Given the description of an element on the screen output the (x, y) to click on. 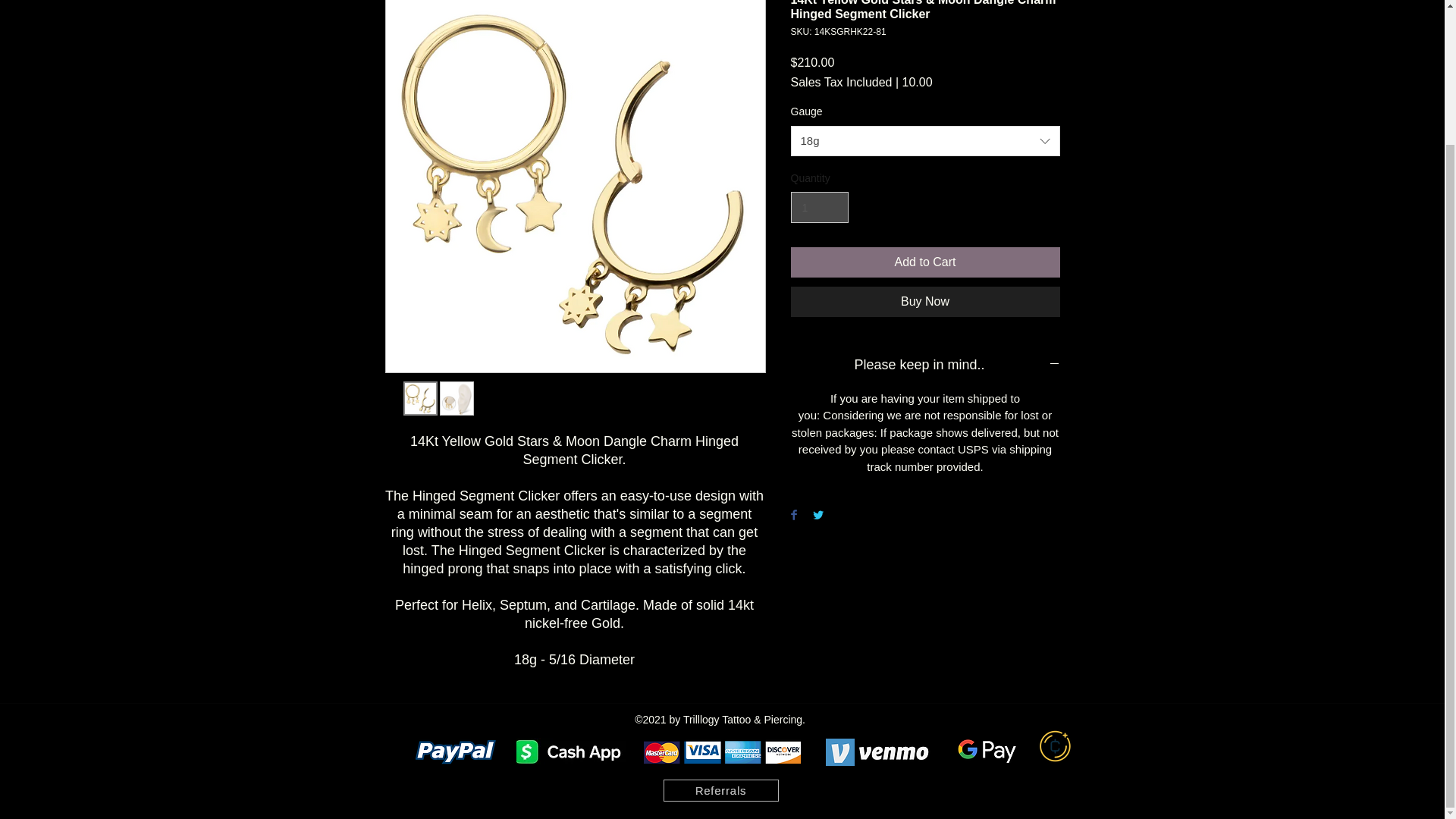
10.00 (917, 82)
18g (924, 141)
Please keep in mind.. (924, 364)
1 (818, 206)
Add to Cart (924, 262)
Referrals (719, 790)
Buy Now (924, 301)
